Given the description of an element on the screen output the (x, y) to click on. 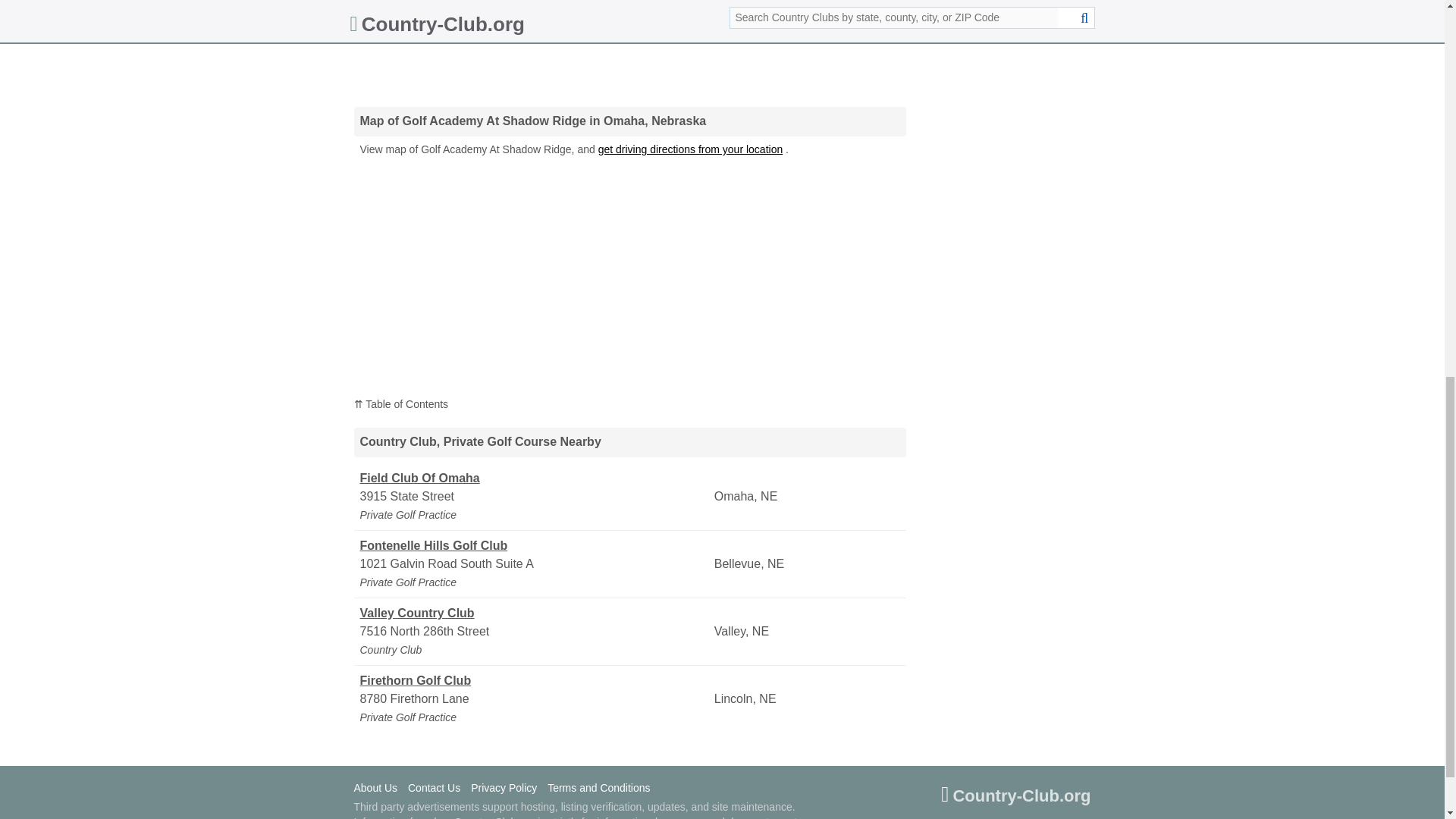
Fontenelle Hills Golf Club in Bellevue, Nebraska (534, 546)
About Us (378, 788)
Terms and Conditions (602, 788)
Country-Club.org (1015, 797)
Valley Country Club in Valley, Nebraska (534, 613)
Fontenelle Hills Golf Club (534, 546)
Privacy Policy (507, 788)
Field Club Of Omaha (534, 478)
Contact Us (437, 788)
Advertisement (629, 45)
